Given the description of an element on the screen output the (x, y) to click on. 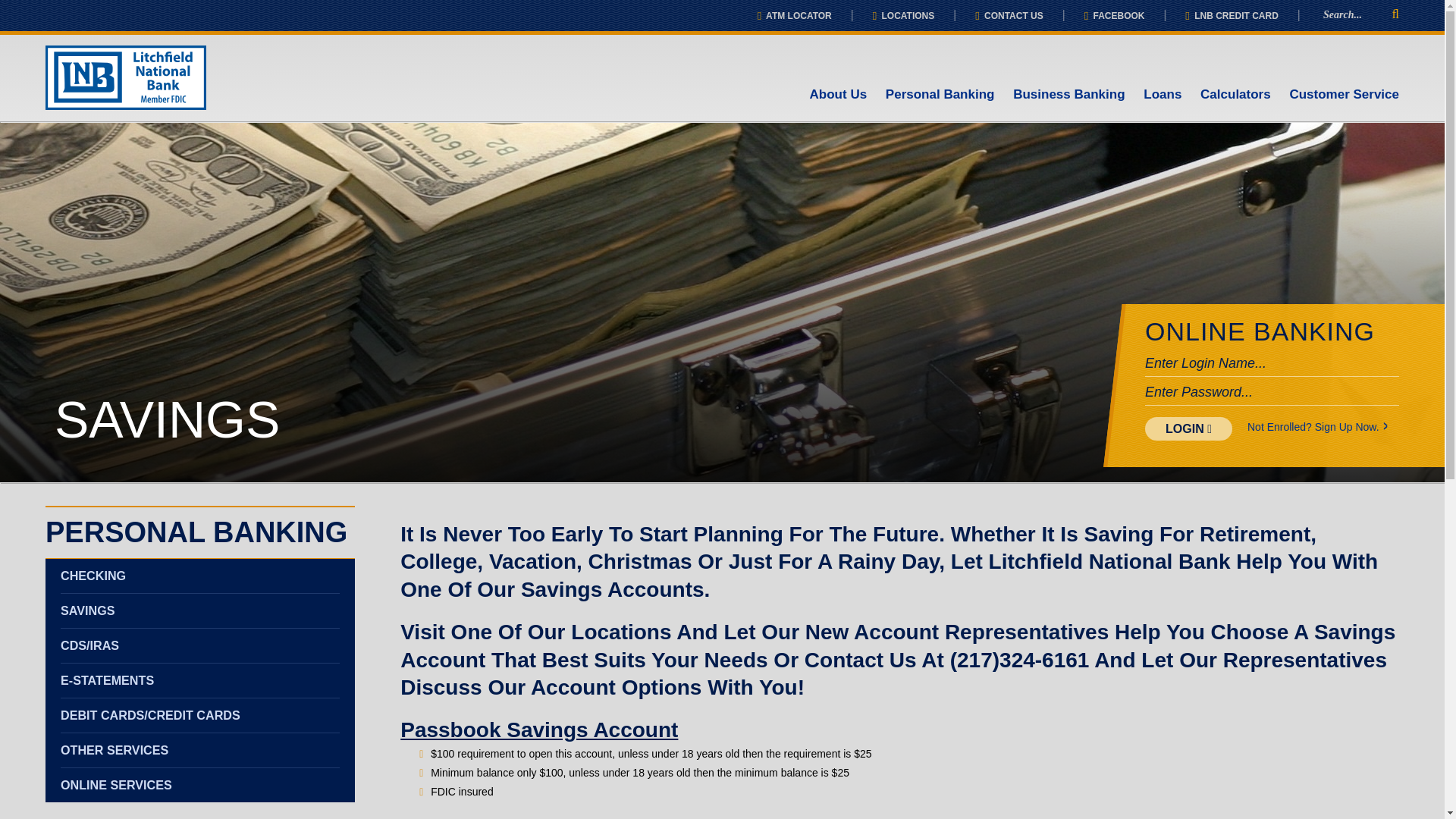
Personal Banking (939, 93)
About Us (838, 93)
CHECKING (200, 574)
LNB CREDIT CARD (1231, 15)
Loans (1161, 93)
CONTACT US (1009, 15)
SAVINGS (200, 609)
ATM LOCATOR (794, 15)
LOGIN (1187, 428)
Customer Service (1343, 93)
LOCATIONS (903, 15)
Calculators (1235, 93)
FACEBOOK (1114, 15)
Business Banking (1068, 93)
